Given the description of an element on the screen output the (x, y) to click on. 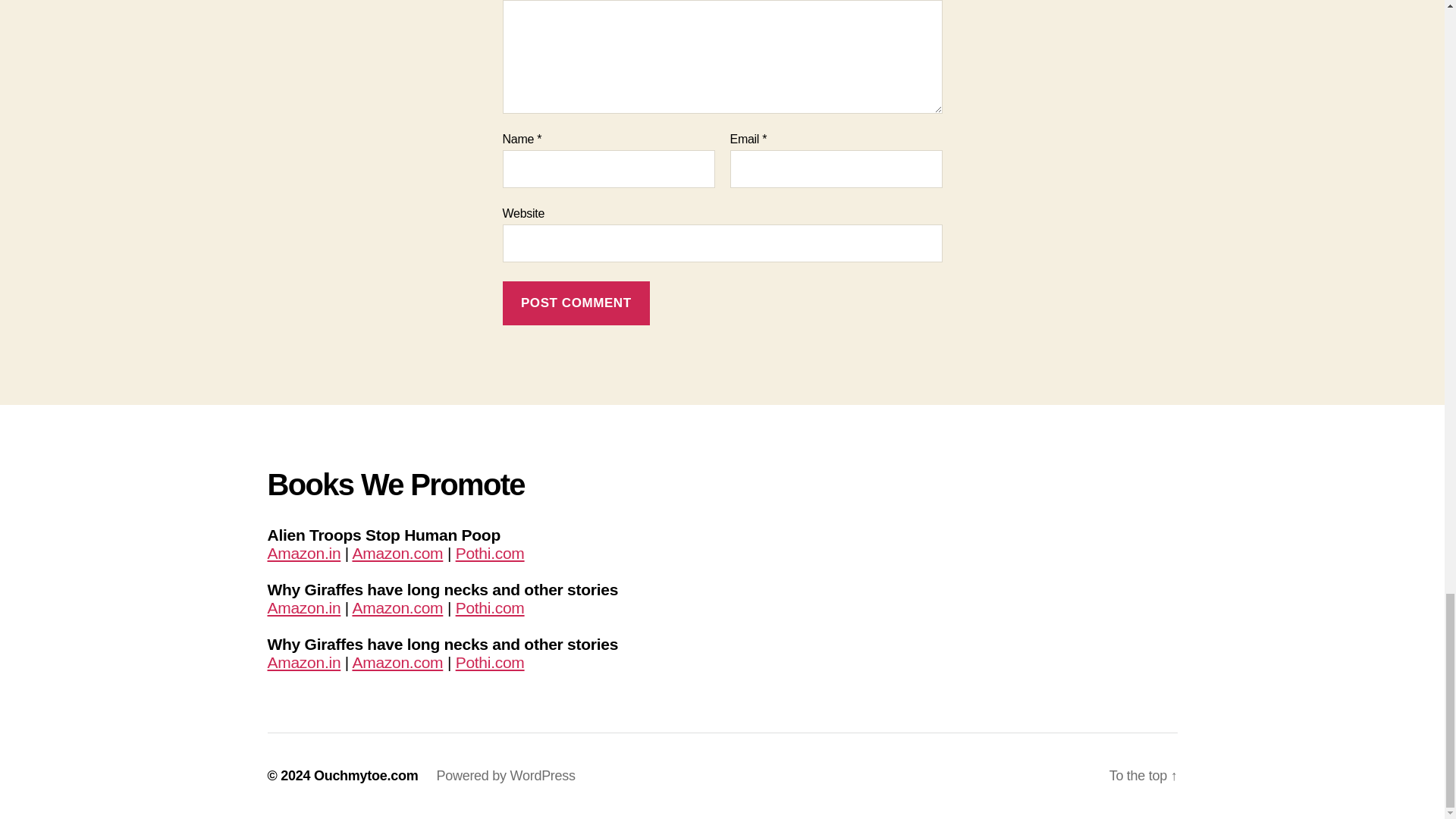
Amazon.in (303, 552)
Post Comment (575, 303)
Pothi.com (489, 552)
Pothi.com (489, 607)
Post Comment (575, 303)
Amazon.in (303, 607)
Amazon.com (397, 552)
Amazon.com (397, 607)
